Given the description of an element on the screen output the (x, y) to click on. 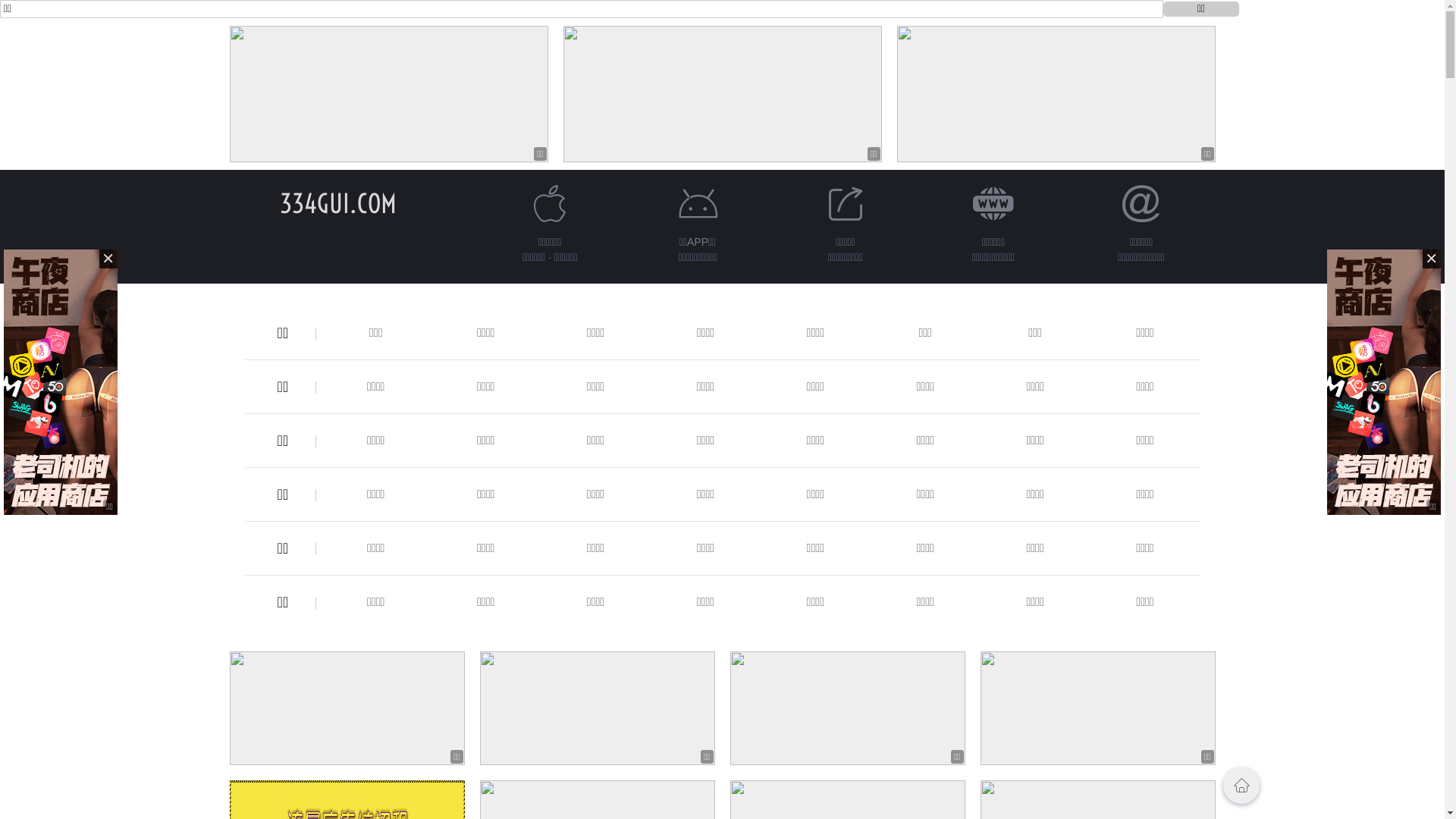
334GUI.COM Element type: text (337, 203)
